Given the description of an element on the screen output the (x, y) to click on. 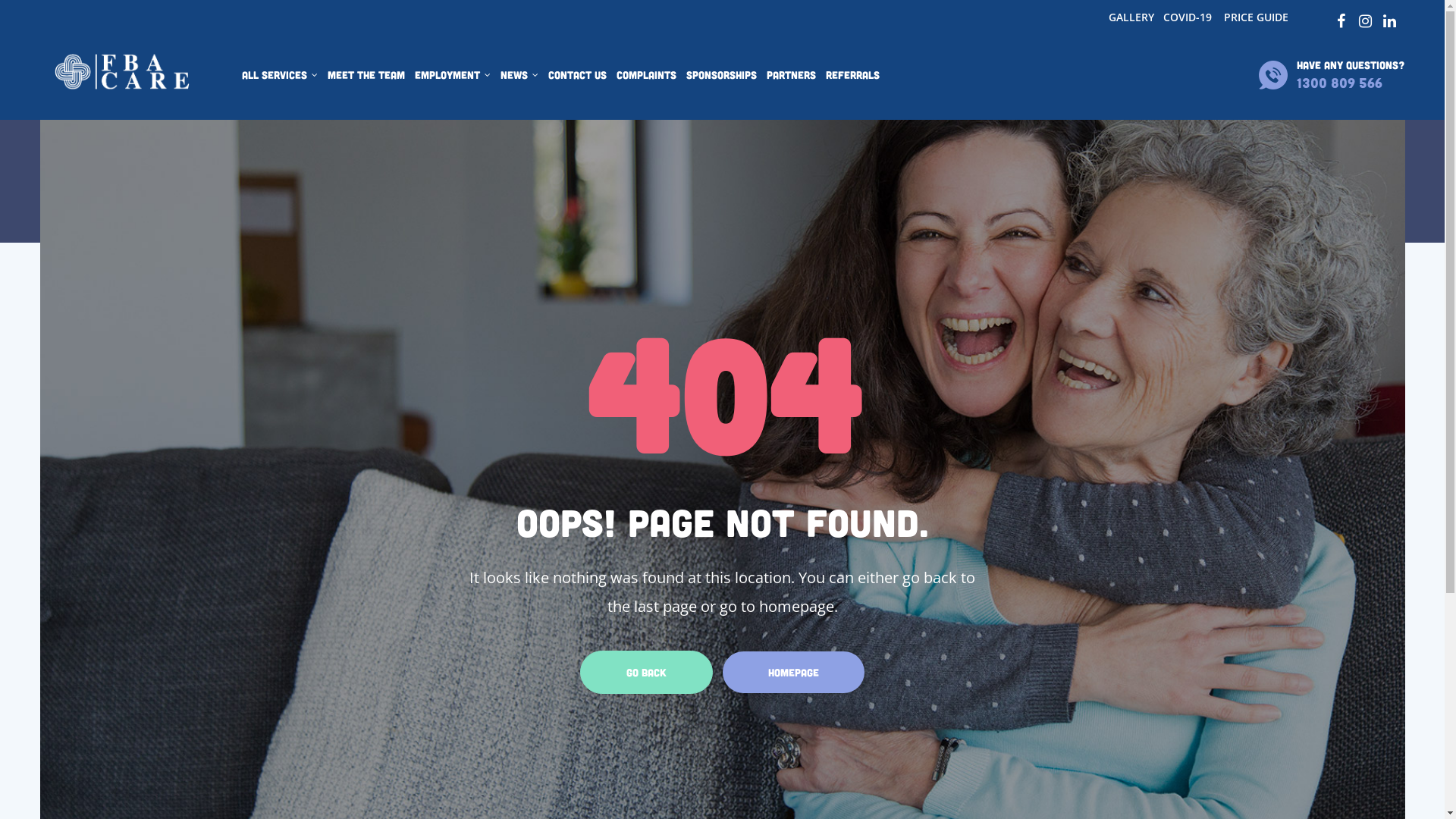
GALLERY Element type: text (1131, 16)
GO BACK Element type: text (646, 671)
PRICE GUIDE Element type: text (1255, 16)
MEET THE TEAM Element type: text (365, 74)
EMPLOYMENT Element type: text (451, 74)
ALL SERVICES Element type: text (278, 74)
HOMEPAGE Element type: text (793, 672)
COVID-19 Element type: text (1187, 16)
REFERRALS Element type: text (851, 74)
NEWS Element type: text (519, 74)
CONTACT US Element type: text (576, 74)
COMPLAINTS Element type: text (645, 74)
SPONSORSHIPS Element type: text (720, 74)
PARTNERS Element type: text (790, 74)
